Given the description of an element on the screen output the (x, y) to click on. 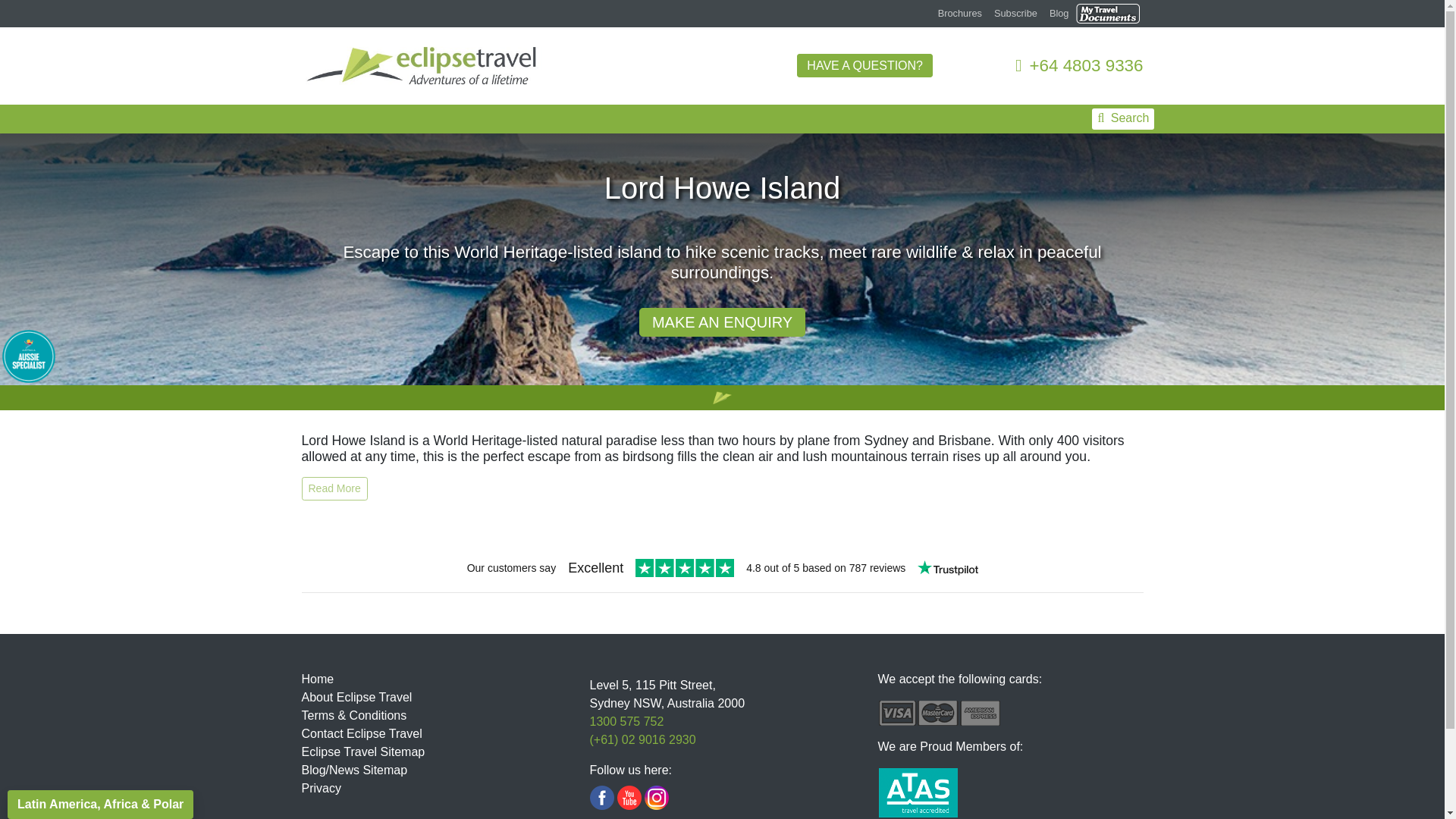
Search (1123, 118)
Blog (1059, 13)
Read More (334, 488)
Eclipse Travel (421, 64)
Subscribe (1015, 13)
Customer reviews powered by Trustpilot (722, 568)
About Eclipse Travel (356, 697)
Brochures (959, 13)
HAVE A QUESTION? (864, 65)
Contact Eclipse Travel (361, 733)
